Given the description of an element on the screen output the (x, y) to click on. 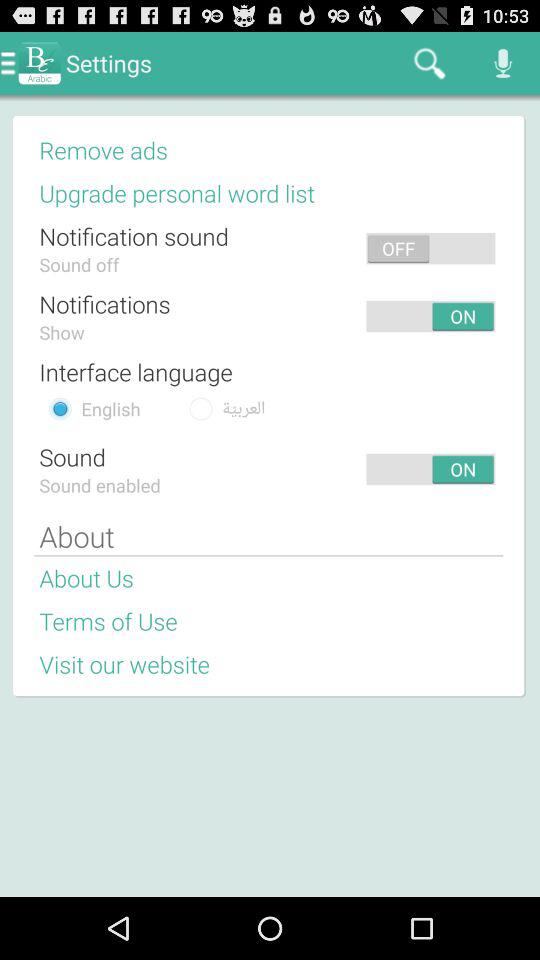
choose app below interface language item (110, 408)
